Given the description of an element on the screen output the (x, y) to click on. 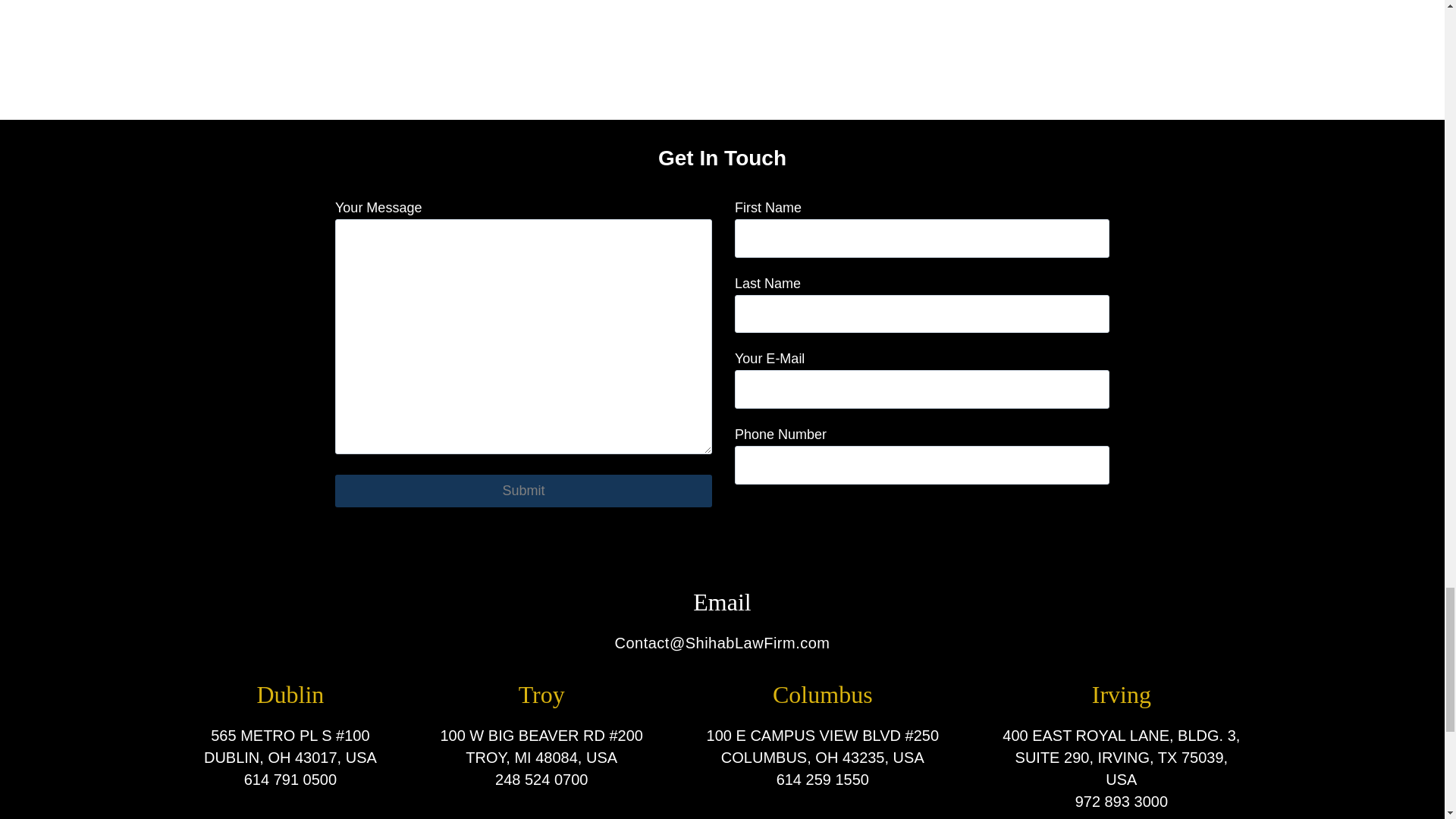
Submit (522, 490)
